Given the description of an element on the screen output the (x, y) to click on. 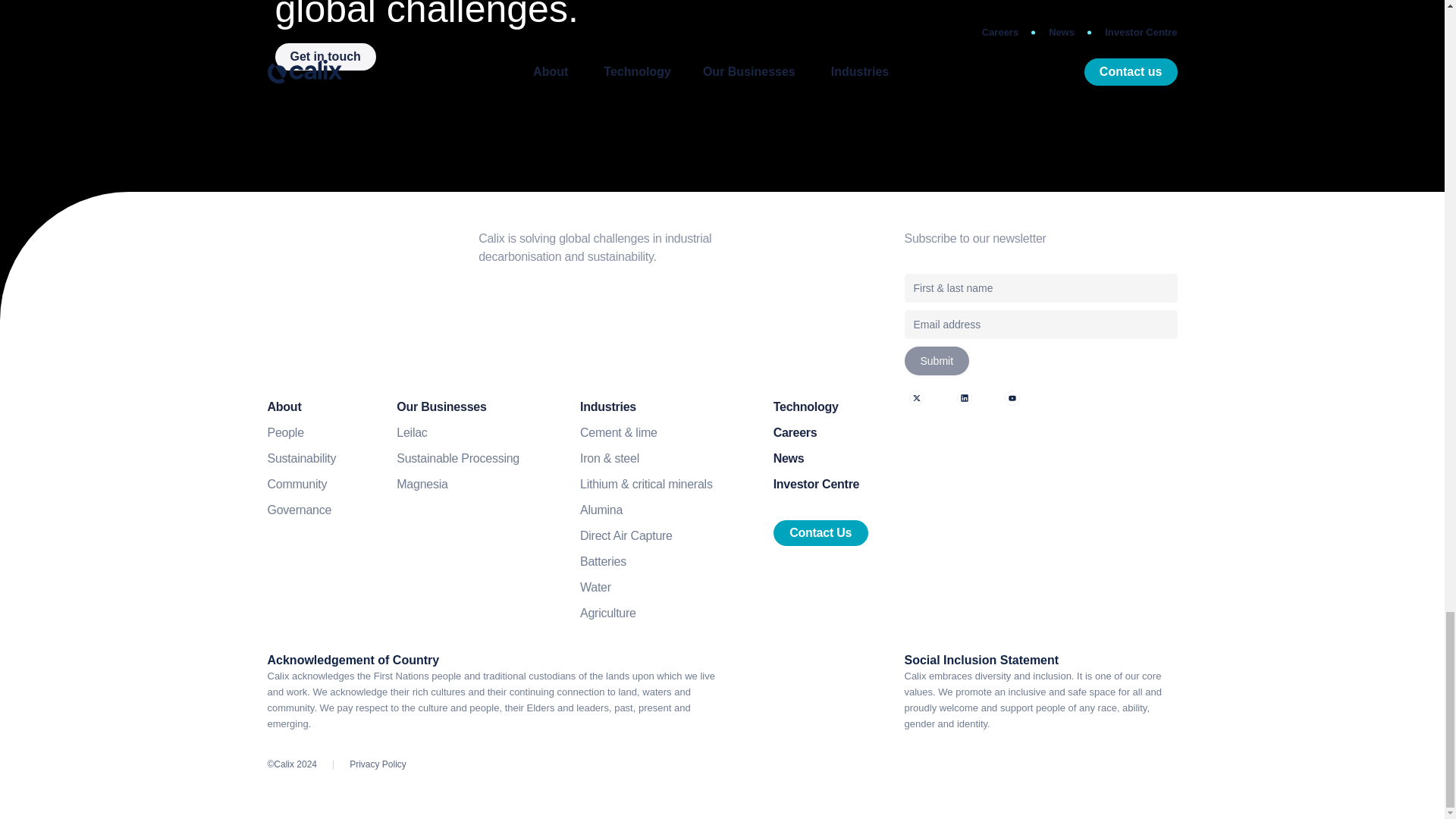
Submit (936, 360)
